Given the description of an element on the screen output the (x, y) to click on. 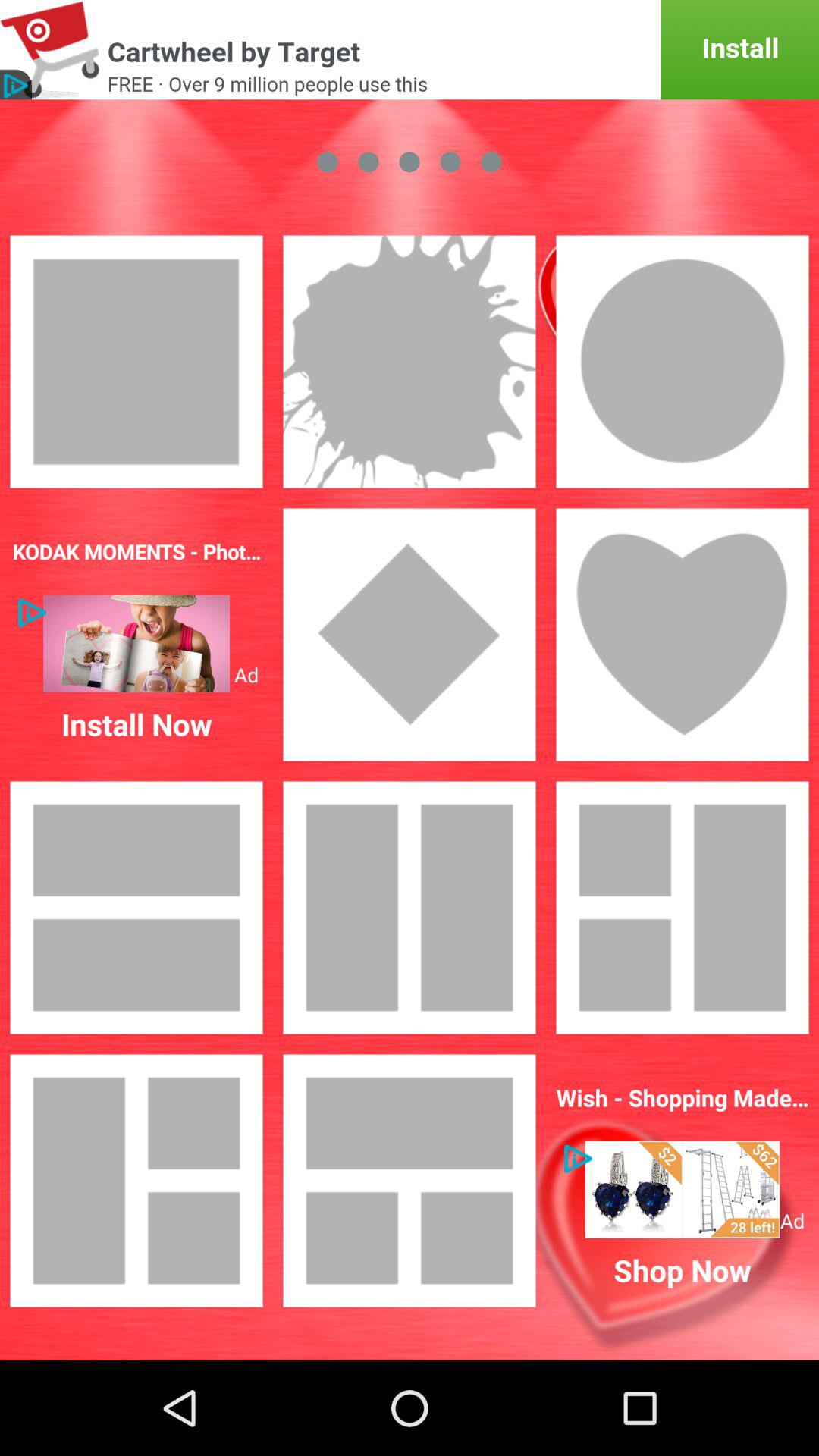
select heart shaped layout (682, 634)
